Given the description of an element on the screen output the (x, y) to click on. 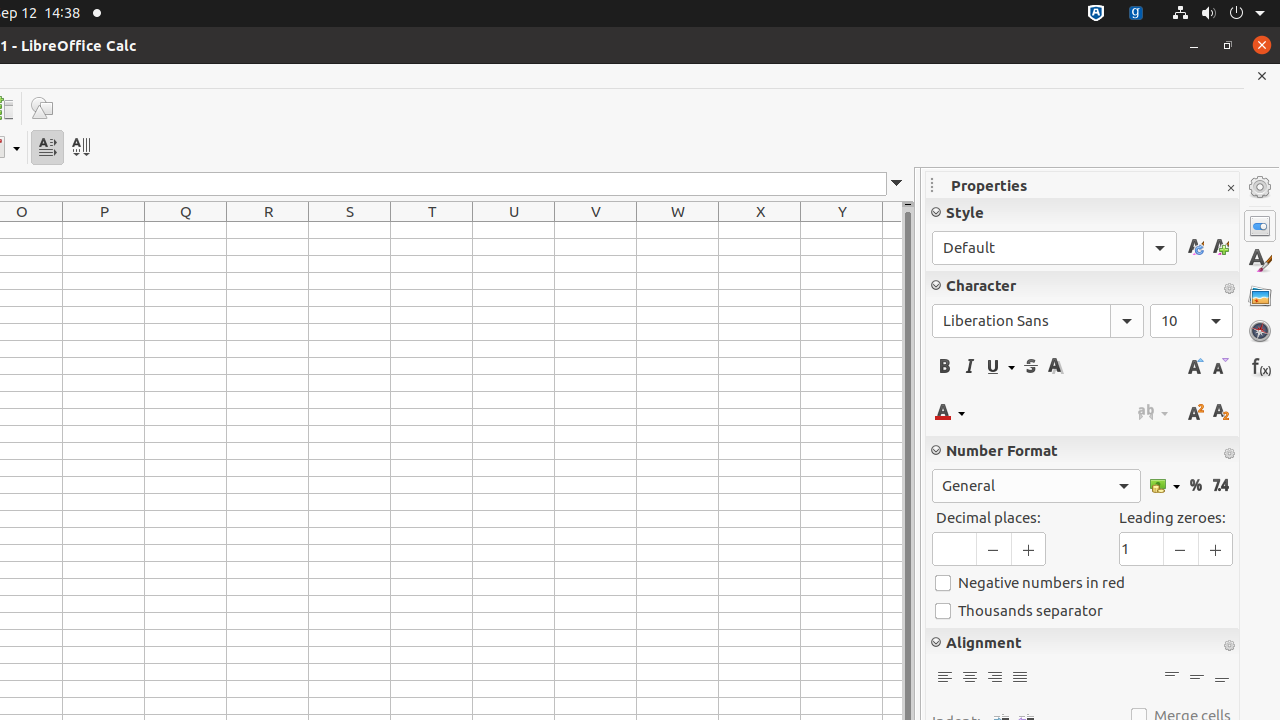
W1 Element type: table-cell (678, 230)
:1.72/StatusNotifierItem Element type: menu (1096, 13)
More Options Element type: toggle-button (1229, 646)
P1 Element type: table-cell (104, 230)
Align Right Element type: toggle-button (994, 677)
